Given the description of an element on the screen output the (x, y) to click on. 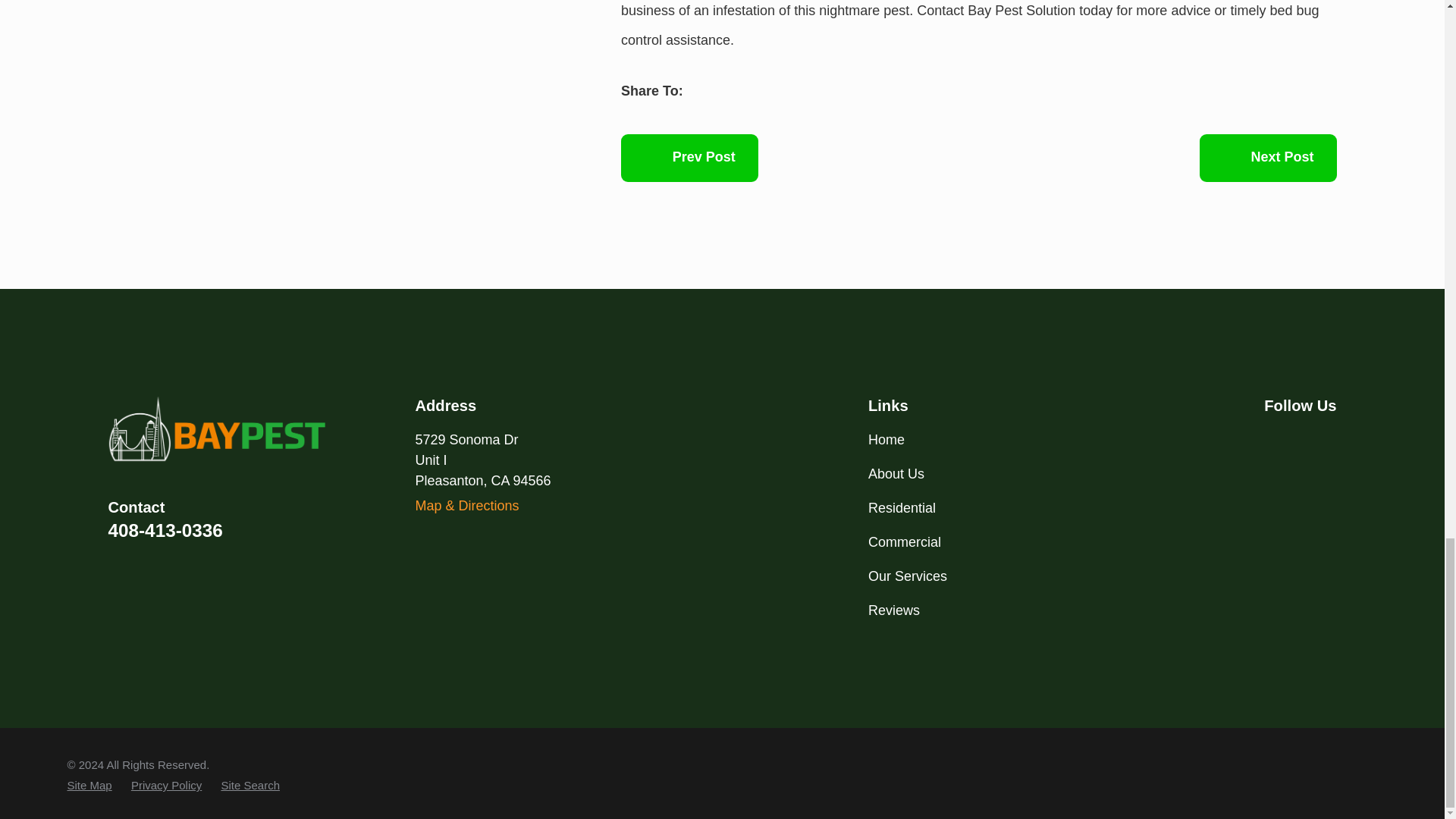
Google Business Profile (1313, 438)
Facebook (1272, 438)
Home (216, 429)
